Given the description of an element on the screen output the (x, y) to click on. 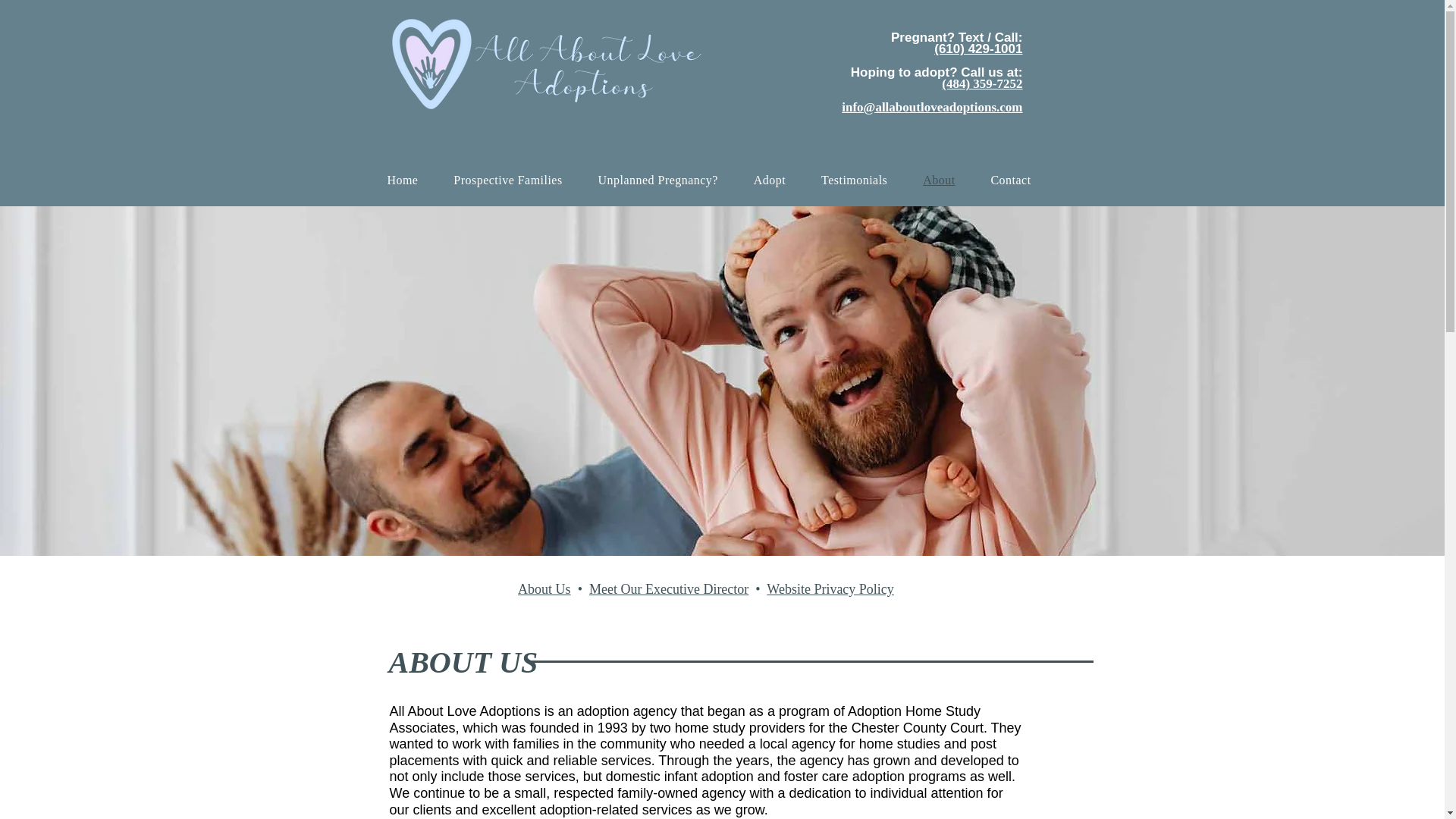
Website Privacy Policy (830, 589)
Adopt (770, 180)
Meet Our Executive Director (668, 589)
Testimonials (853, 180)
Prospective Families (508, 180)
About Us (544, 589)
Home (402, 180)
Unplanned Pregnancy? (657, 180)
About (939, 180)
Contact (1010, 180)
